Given the description of an element on the screen output the (x, y) to click on. 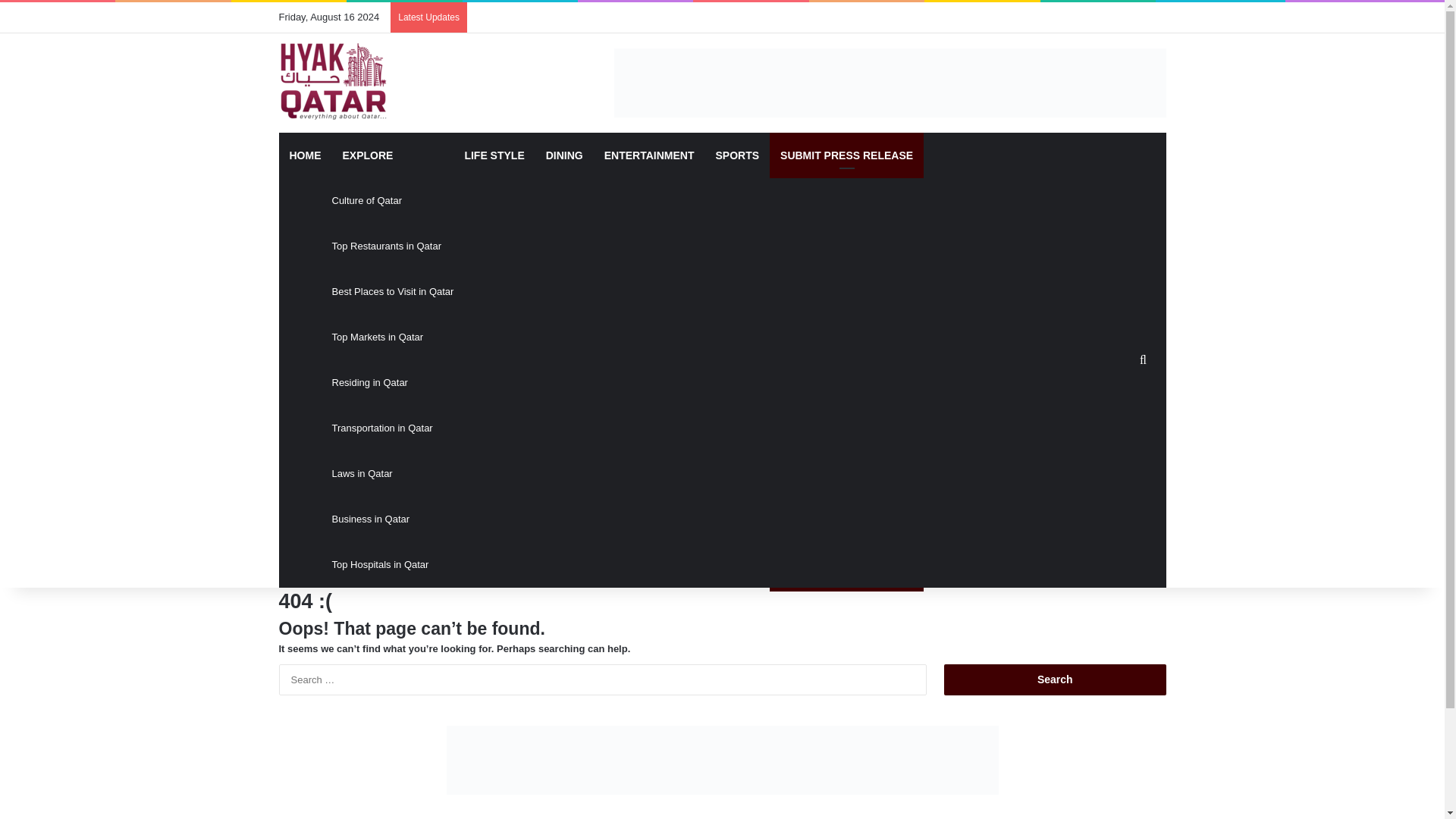
Search (1054, 679)
Transportation in Qatar (392, 428)
DINING (564, 155)
Hyak Qatar - Welcome to Qatar (333, 80)
HOME (305, 155)
Top Restaurants in Qatar (392, 246)
SUBMIT PRESS RELEASE (846, 155)
LIFE STYLE (493, 155)
Top Hospitals in Qatar (392, 565)
Residing in Qatar (392, 382)
